Given the description of an element on the screen output the (x, y) to click on. 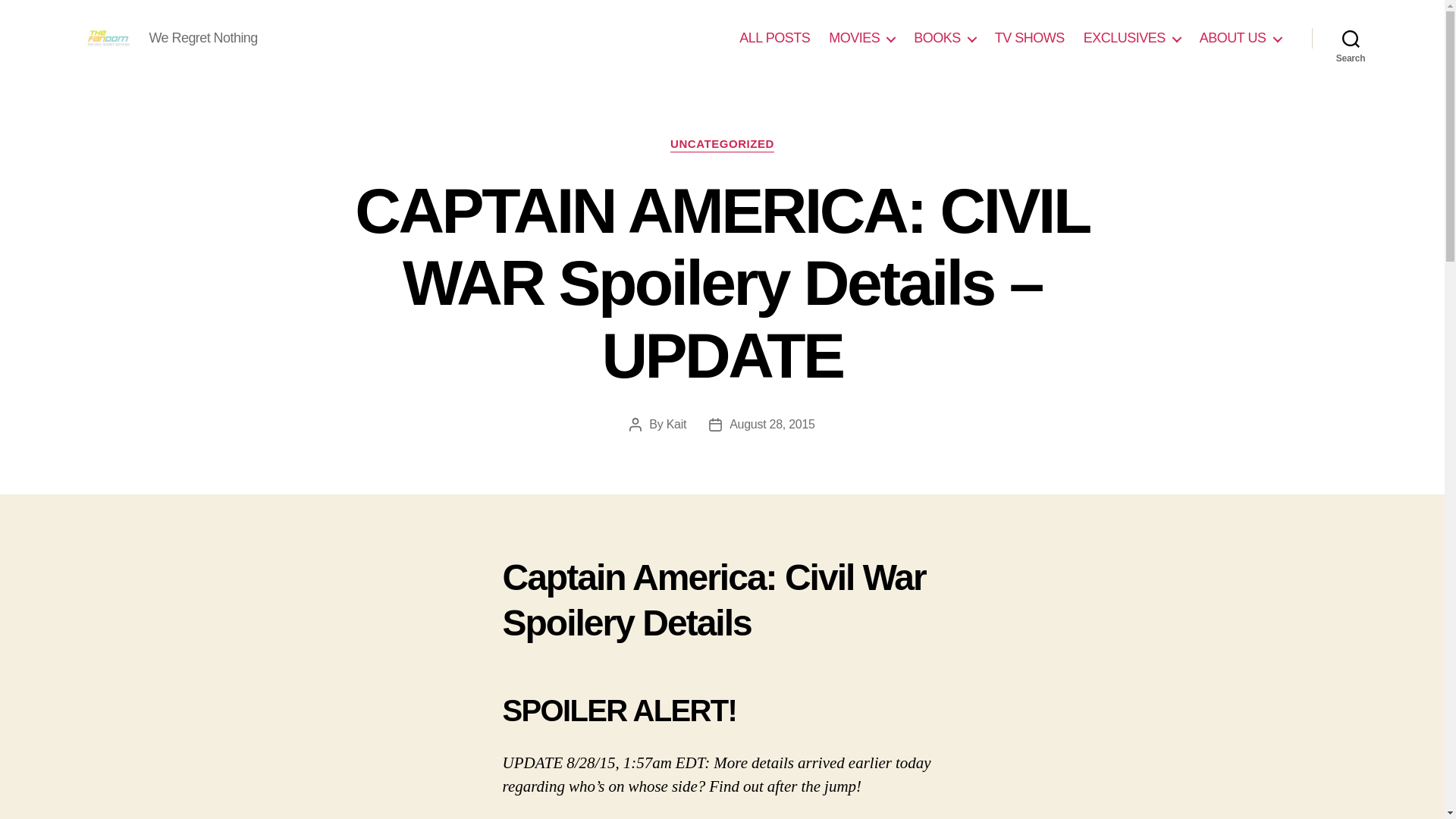
EXCLUSIVES (1131, 38)
MOVIES (861, 38)
Search (1350, 37)
ALL POSTS (774, 38)
ABOUT US (1240, 38)
Kait (676, 423)
BOOKS (944, 38)
UNCATEGORIZED (721, 144)
TV SHOWS (1029, 38)
